Given the description of an element on the screen output the (x, y) to click on. 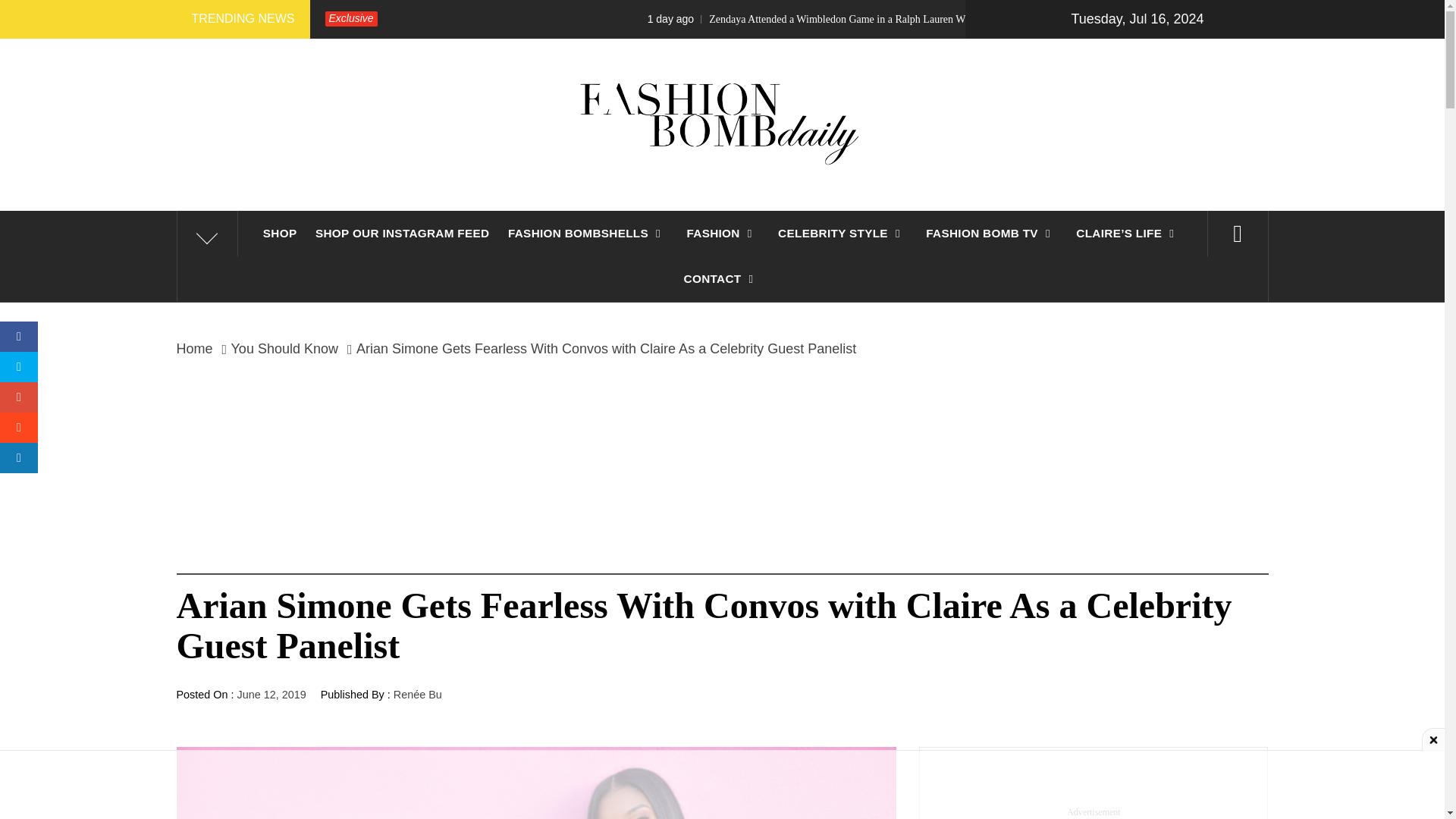
SHOP (280, 233)
SHOP OUR INSTAGRAM FEED (401, 233)
3rd party ad content (721, 785)
FASHION BOMB DAILY (721, 229)
FASHION BOMBSHELLS (587, 233)
FASHION (722, 233)
